Given the description of an element on the screen output the (x, y) to click on. 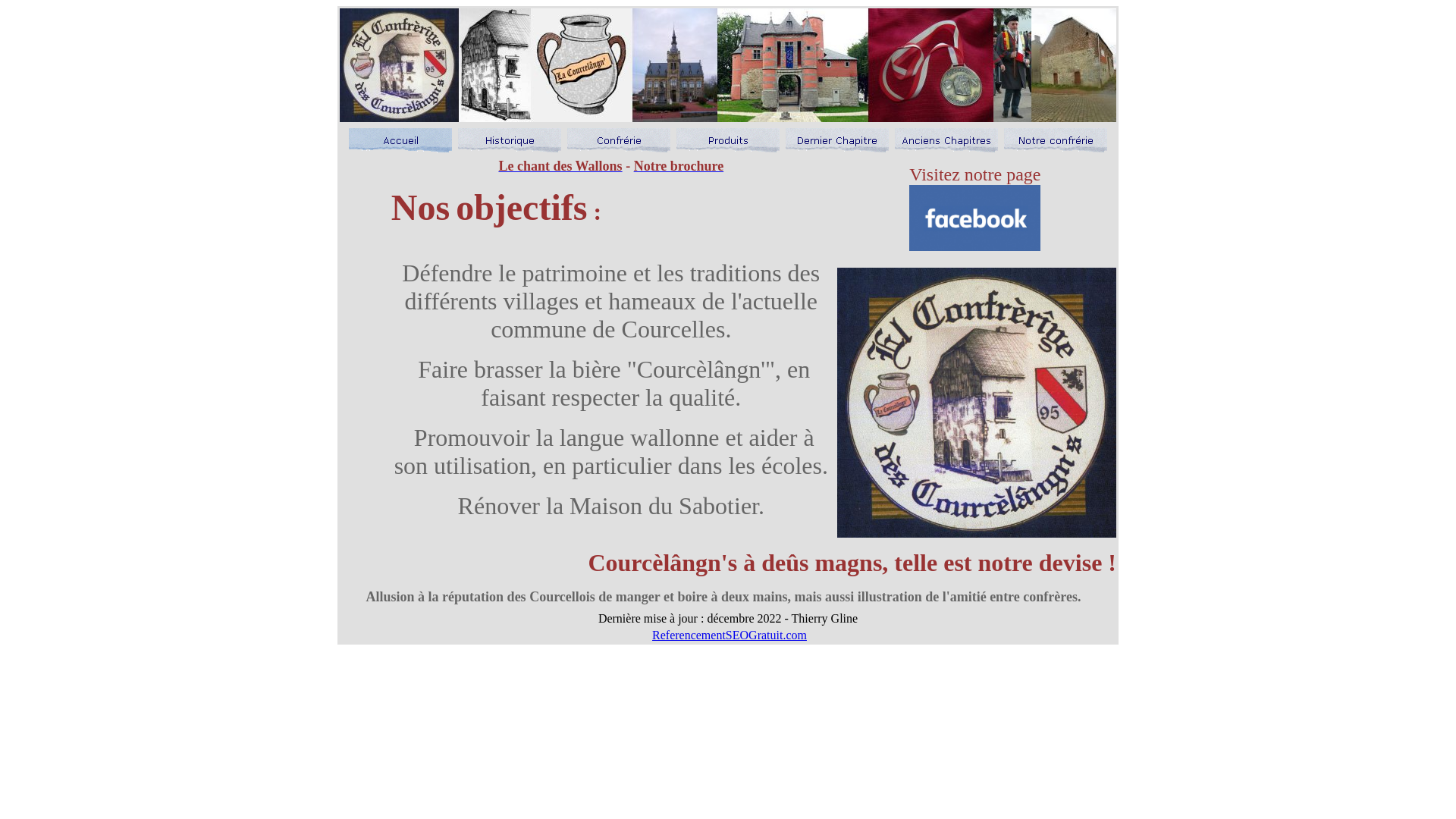
Le chant des Wallons Element type: text (559, 165)
Notre brochure Element type: text (678, 165)
ReferencementSEOGratuit.com Element type: text (729, 634)
